Given the description of an element on the screen output the (x, y) to click on. 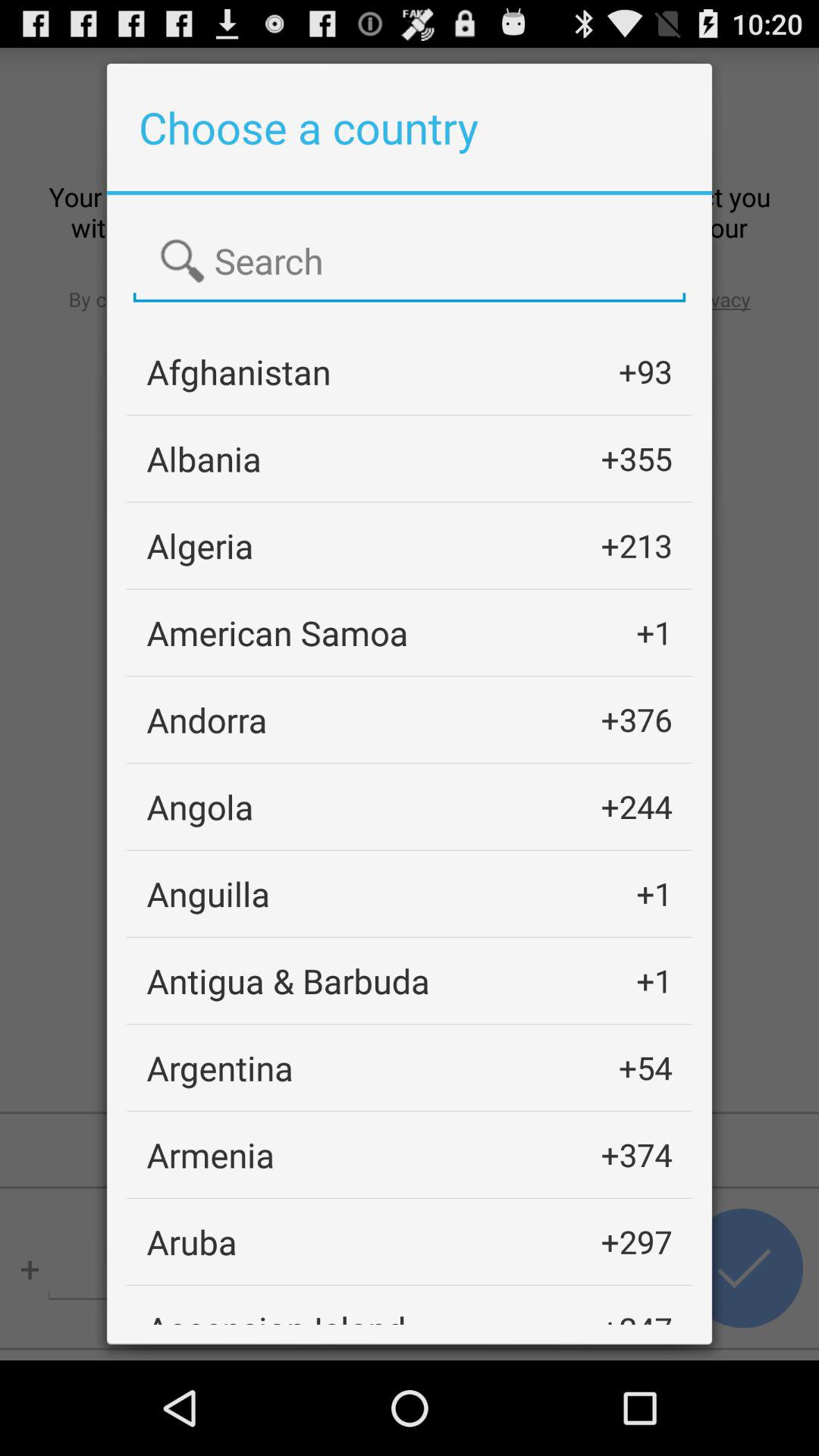
open app next to +54 (219, 1067)
